Given the description of an element on the screen output the (x, y) to click on. 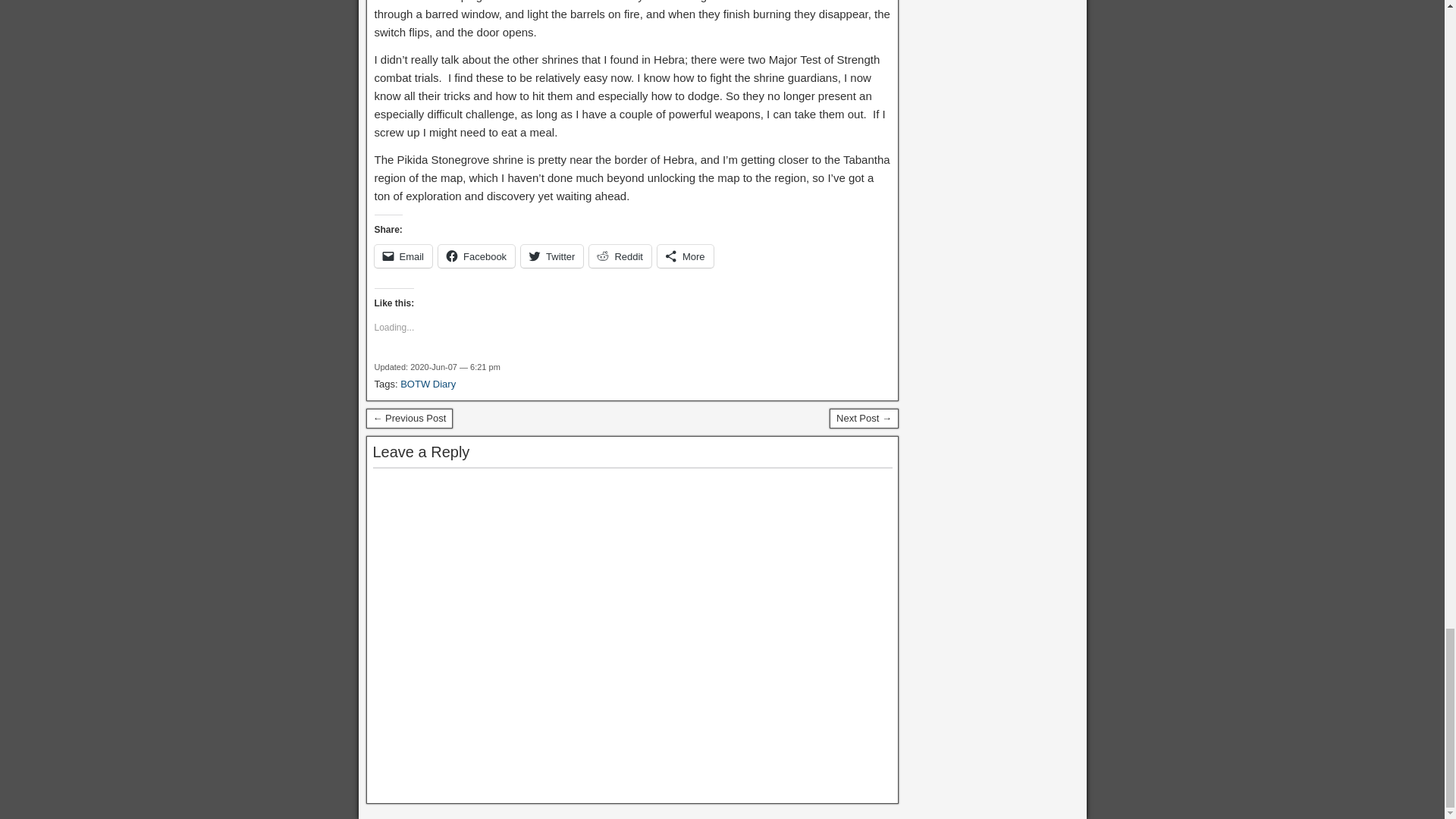
Click to email a link to a friend (403, 255)
Click to share on Reddit (619, 255)
Click to share on Facebook (476, 255)
Click to share on Twitter (552, 255)
